Given the description of an element on the screen output the (x, y) to click on. 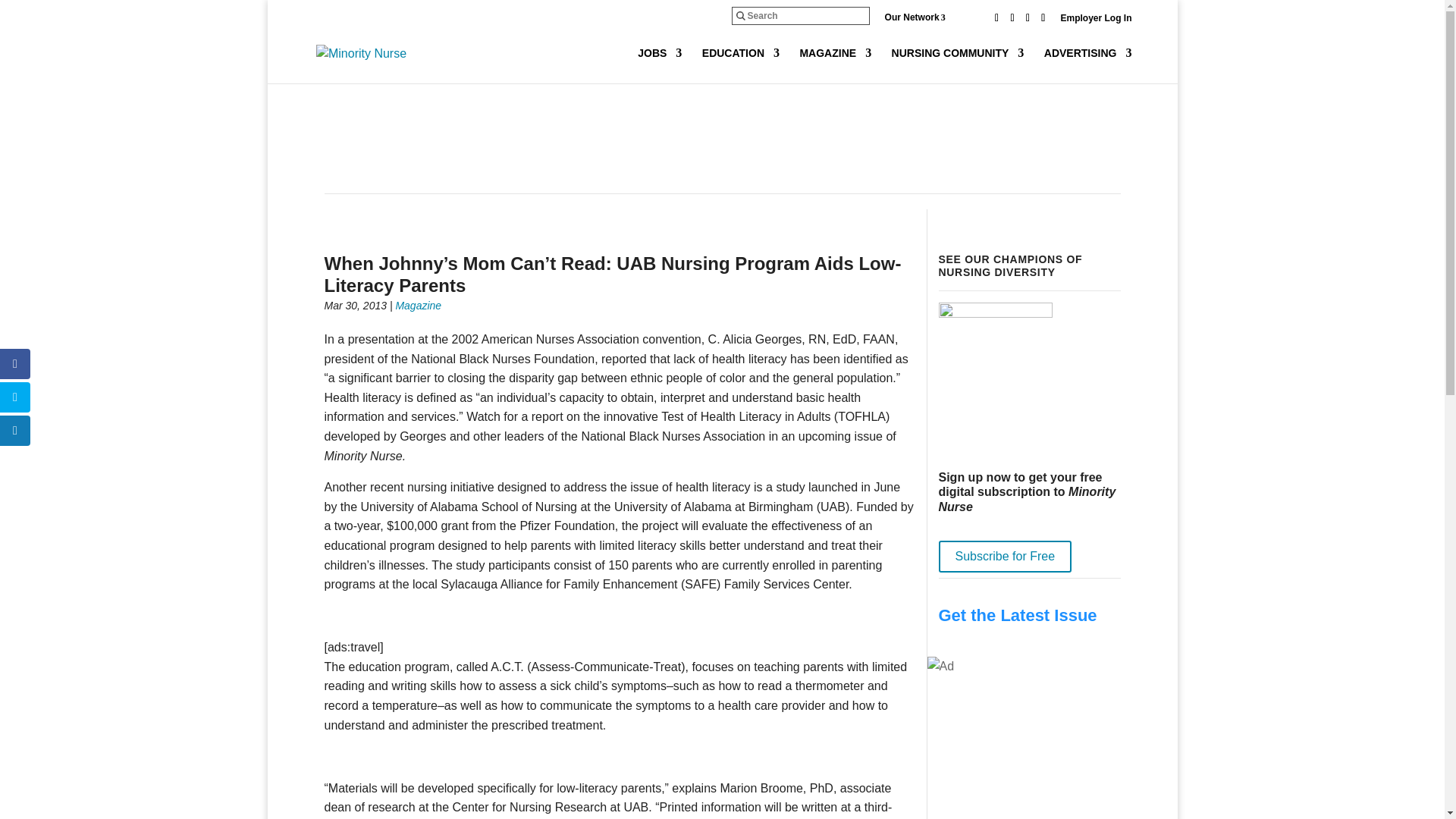
JOBS (659, 65)
EDUCATION (739, 65)
Subscribe for Free (1005, 556)
Our Network (926, 17)
MAGAZINE (834, 65)
3rd party ad content (721, 141)
NURSING COMMUNITY (958, 65)
Employer Log In (1095, 21)
